Given the description of an element on the screen output the (x, y) to click on. 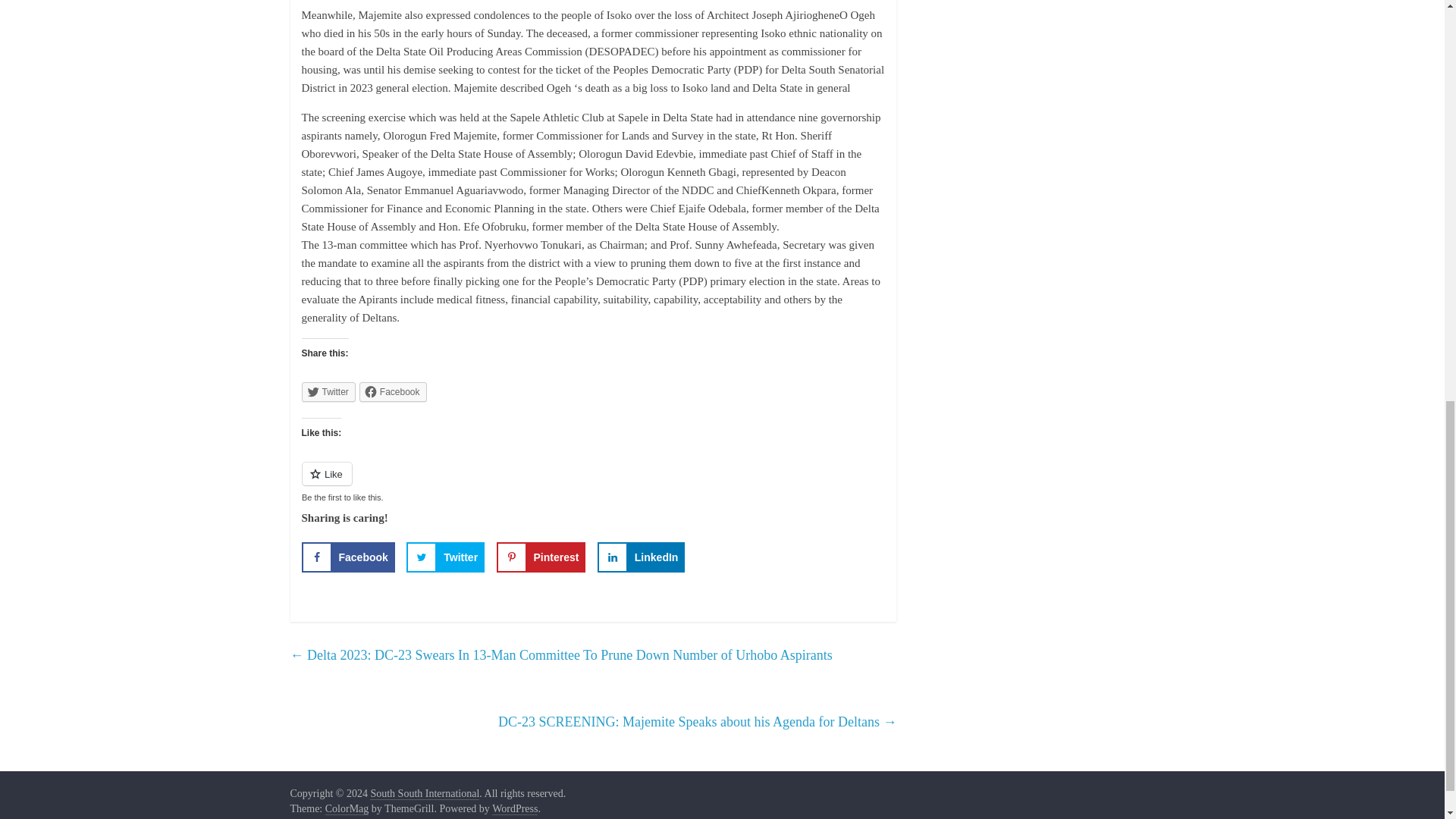
Click to share on Facebook (392, 392)
Share on Facebook (347, 556)
Click to share on Twitter (328, 392)
